Given the description of an element on the screen output the (x, y) to click on. 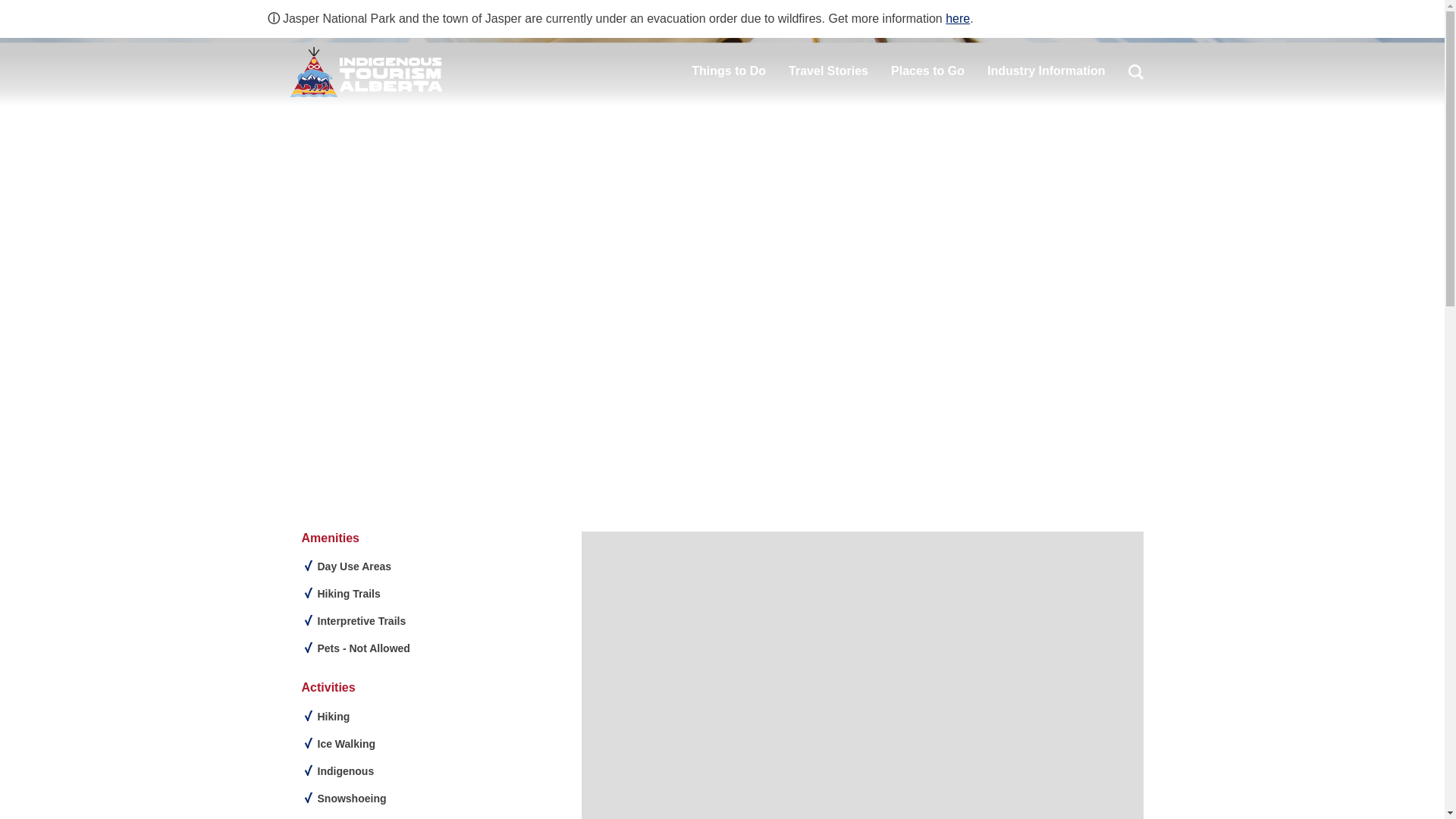
Indigenous Tourism Alberta (365, 71)
here (956, 18)
Travel Stories (828, 71)
Industry Information (1045, 71)
Things to Do (728, 71)
Places to Go (927, 71)
